Given the description of an element on the screen output the (x, y) to click on. 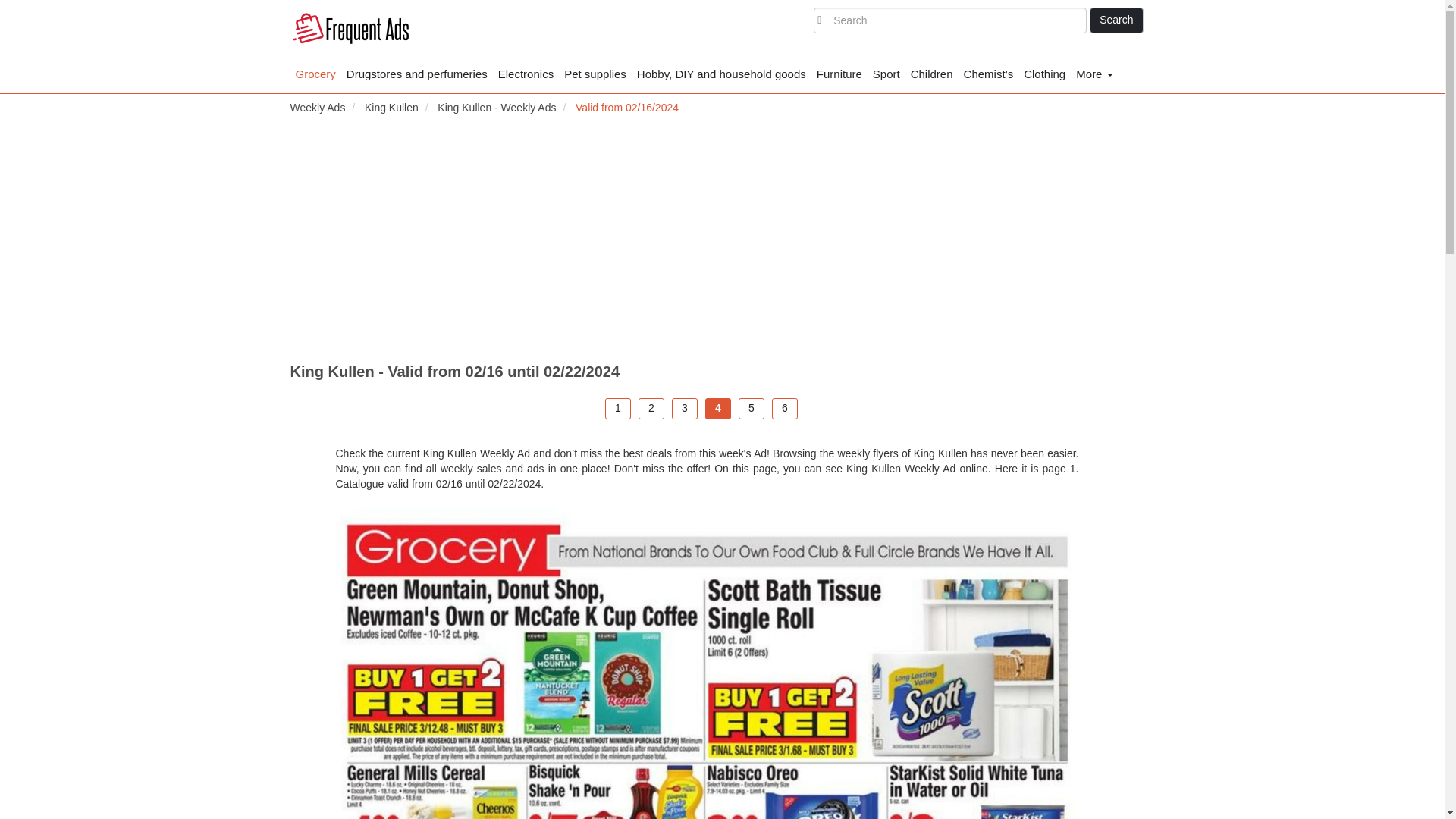
Advertisement (1219, 544)
King Kullen (392, 107)
Weekly Ads (317, 107)
Weekly Ads (349, 30)
Search (1115, 20)
6 (784, 408)
King Kullen - Weekly Ads (497, 107)
5 (751, 408)
1 (617, 408)
